Given the description of an element on the screen output the (x, y) to click on. 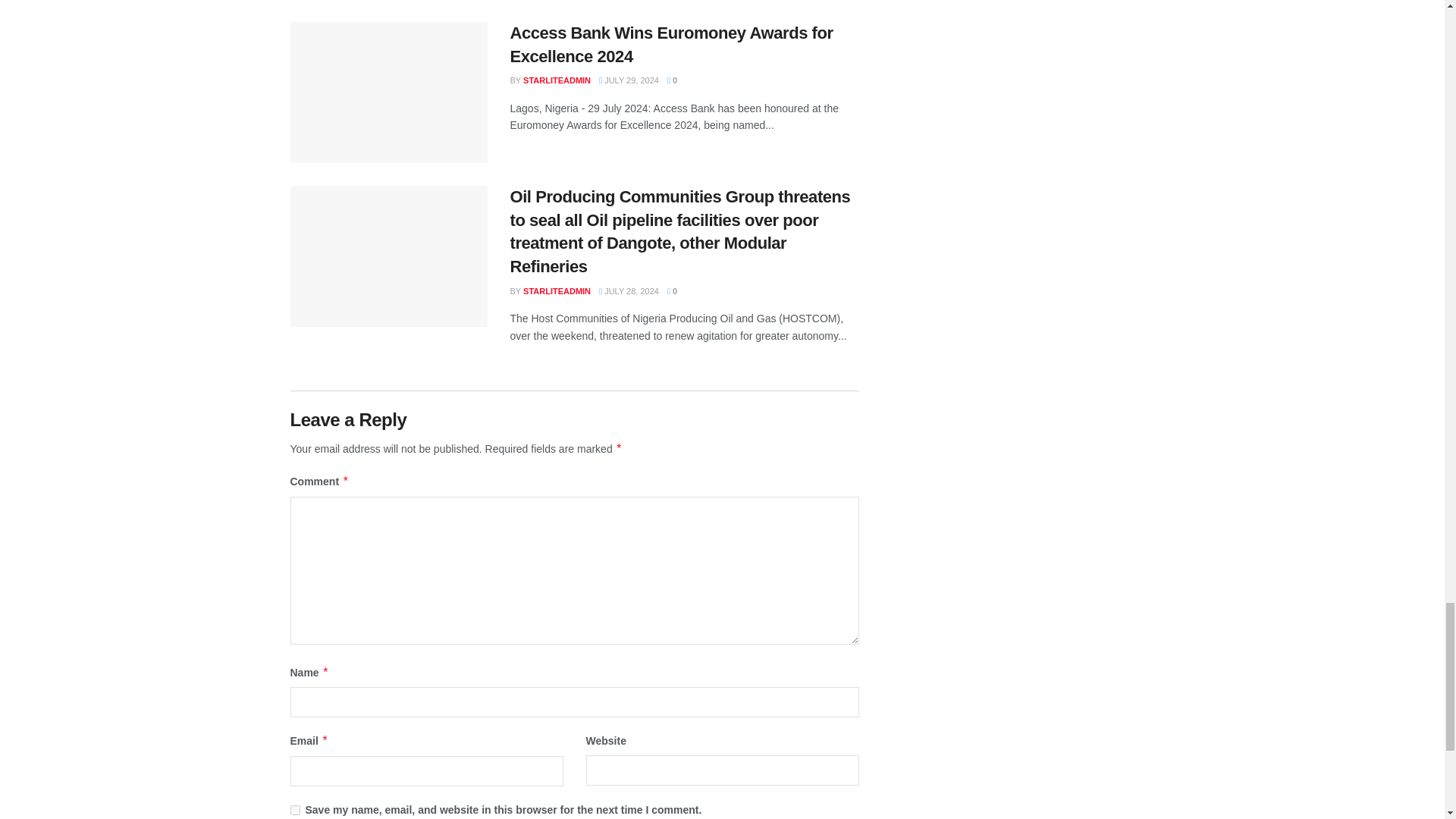
yes (294, 809)
